Given the description of an element on the screen output the (x, y) to click on. 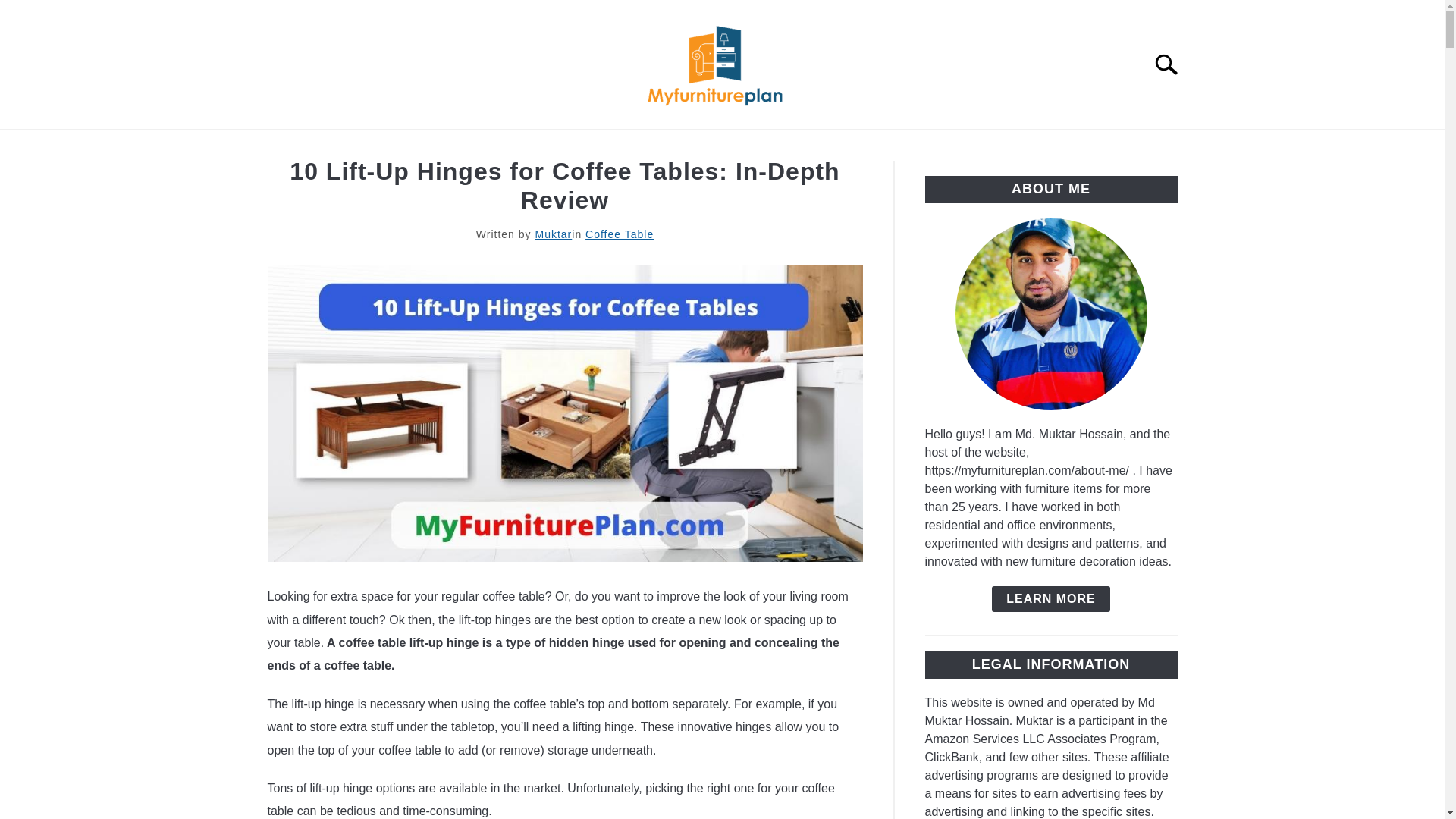
Coffee Table (619, 234)
ABOUT US (1048, 147)
OFFICE TABLE (825, 147)
KITCHEN TABLE (694, 147)
Search (1172, 63)
CONTACT (1146, 147)
Muktar (553, 234)
STUDY TABLE (442, 147)
FURNITURE (943, 147)
DINING TABLE (565, 147)
COFFEE TABLE (315, 147)
